Given the description of an element on the screen output the (x, y) to click on. 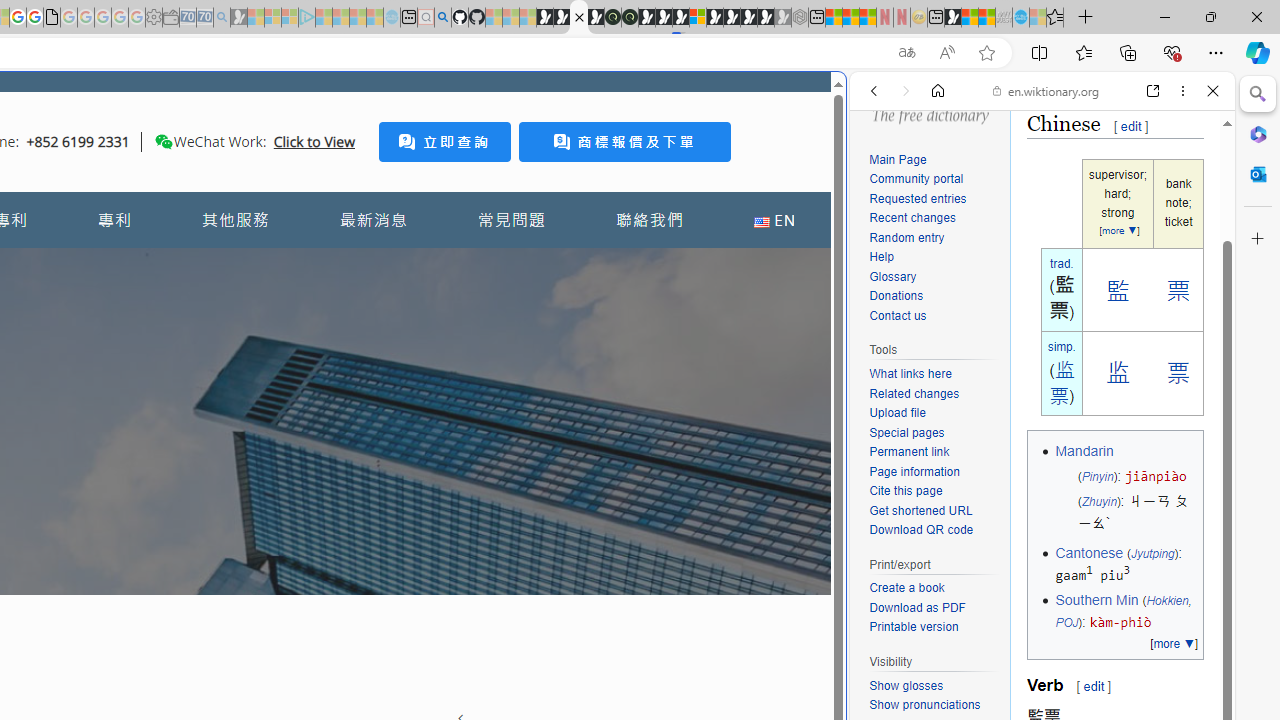
Cantonese (Jyutping): gaam1 piu3 (1126, 564)
Random entry (906, 236)
Navy Quest (1003, 17)
Jyutping (1152, 552)
Get shortened URL (934, 511)
What links here (910, 374)
